Given the description of an element on the screen output the (x, y) to click on. 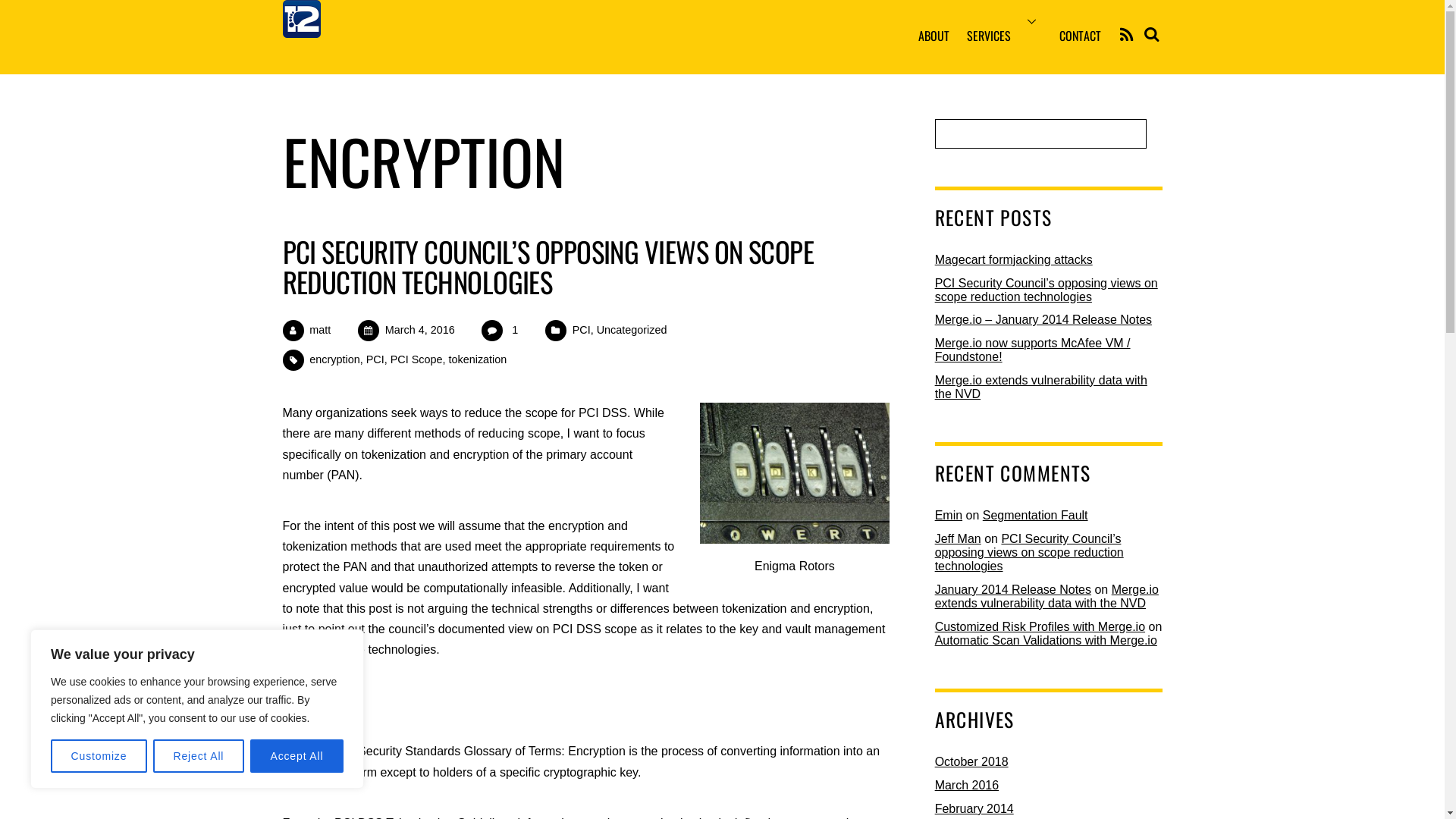
SERVICES Element type: text (1004, 37)
Uncategorized Element type: text (631, 329)
matt Element type: text (319, 329)
RSS Element type: text (1126, 36)
Merge.io extends vulnerability data with the NVD Element type: text (1046, 596)
Merge.io now supports McAfee VM / Foundstone! Element type: text (1032, 349)
Emin Element type: text (948, 514)
Reject All Element type: text (198, 755)
12F_Square_Only_Trans_200 Element type: hover (301, 18)
January 2014 Release Notes Element type: text (1013, 589)
PCI Element type: text (375, 359)
Search Element type: hover (1040, 133)
Segmentation Fault Element type: text (1035, 514)
1 Element type: text (514, 329)
CONTACT Element type: text (1079, 37)
Customized Risk Profiles with Merge.io Element type: text (1040, 626)
PCI Element type: text (581, 329)
Customize Element type: text (98, 755)
March 2016 Element type: text (967, 784)
Accept All Element type: text (296, 755)
October 2018 Element type: text (971, 761)
Magecart formjacking attacks Element type: text (1013, 259)
ABOUT Element type: text (933, 37)
Automatic Scan Validations with Merge.io Element type: text (1046, 639)
PCI Scope Element type: text (416, 359)
Merge.io extends vulnerability data with the NVD Element type: text (1041, 386)
Search Element type: hover (1150, 33)
12Feet, Inc. Element type: hover (301, 25)
tokenization Element type: text (477, 359)
encryption Element type: text (334, 359)
Jeff Man Element type: text (958, 538)
February 2014 Element type: text (974, 808)
